Given the description of an element on the screen output the (x, y) to click on. 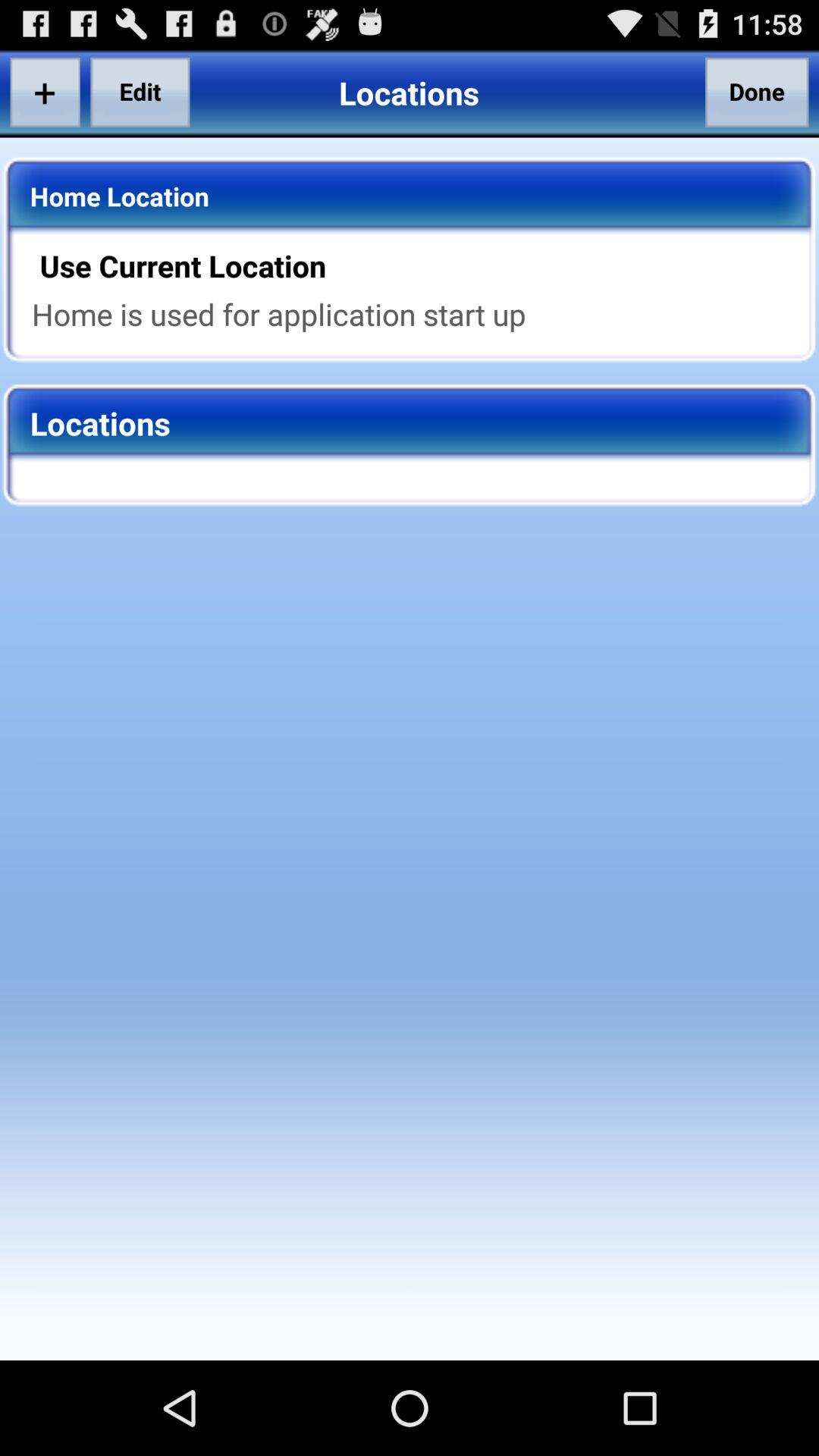
turn off item above the home location app (45, 92)
